Given the description of an element on the screen output the (x, y) to click on. 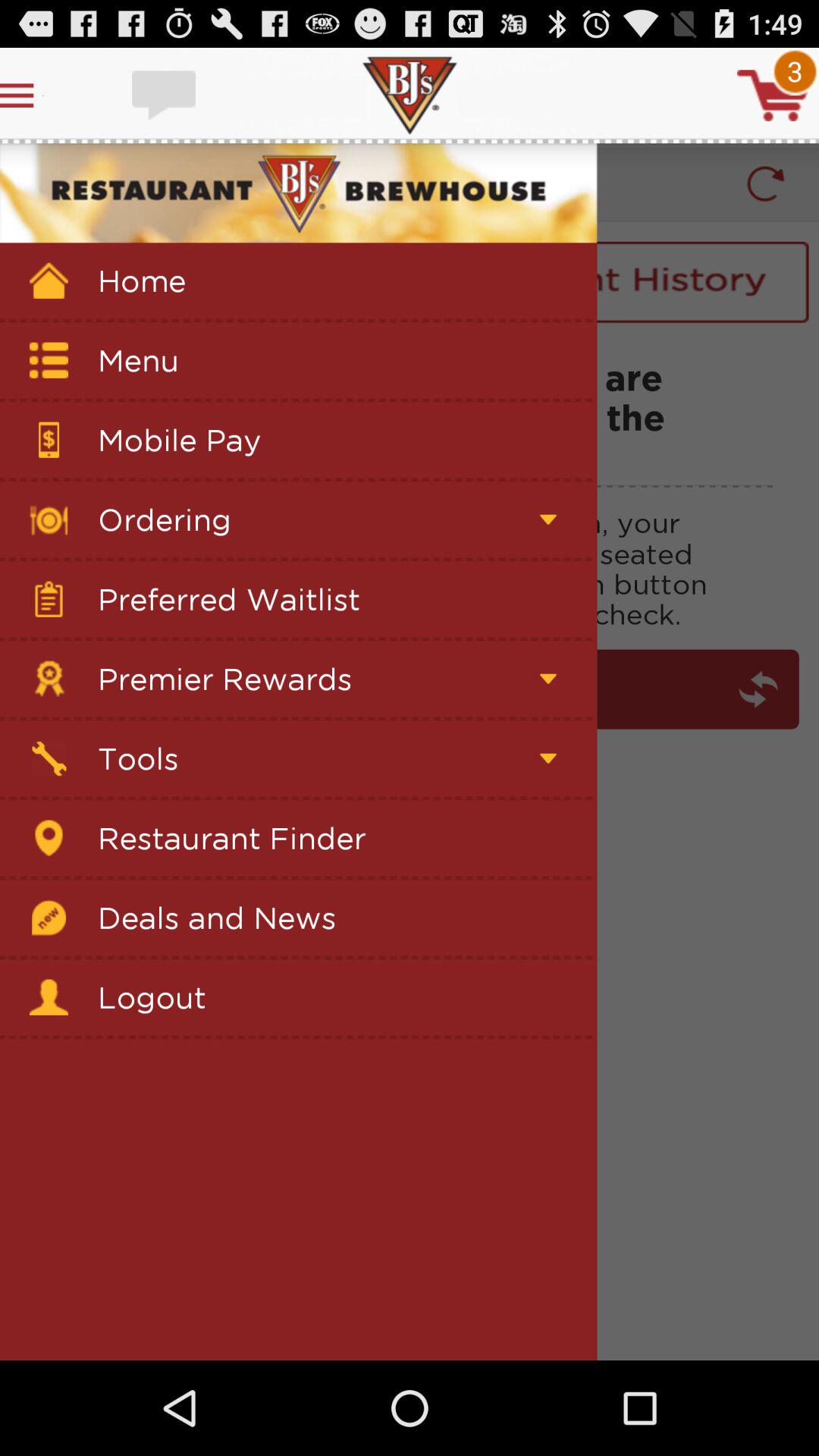
select tools icon on the page (49, 758)
select rewards icon which is before premier ewards on the pae (49, 679)
select the drop down icon which is right side of the text tools (548, 758)
